Given the description of an element on the screen output the (x, y) to click on. 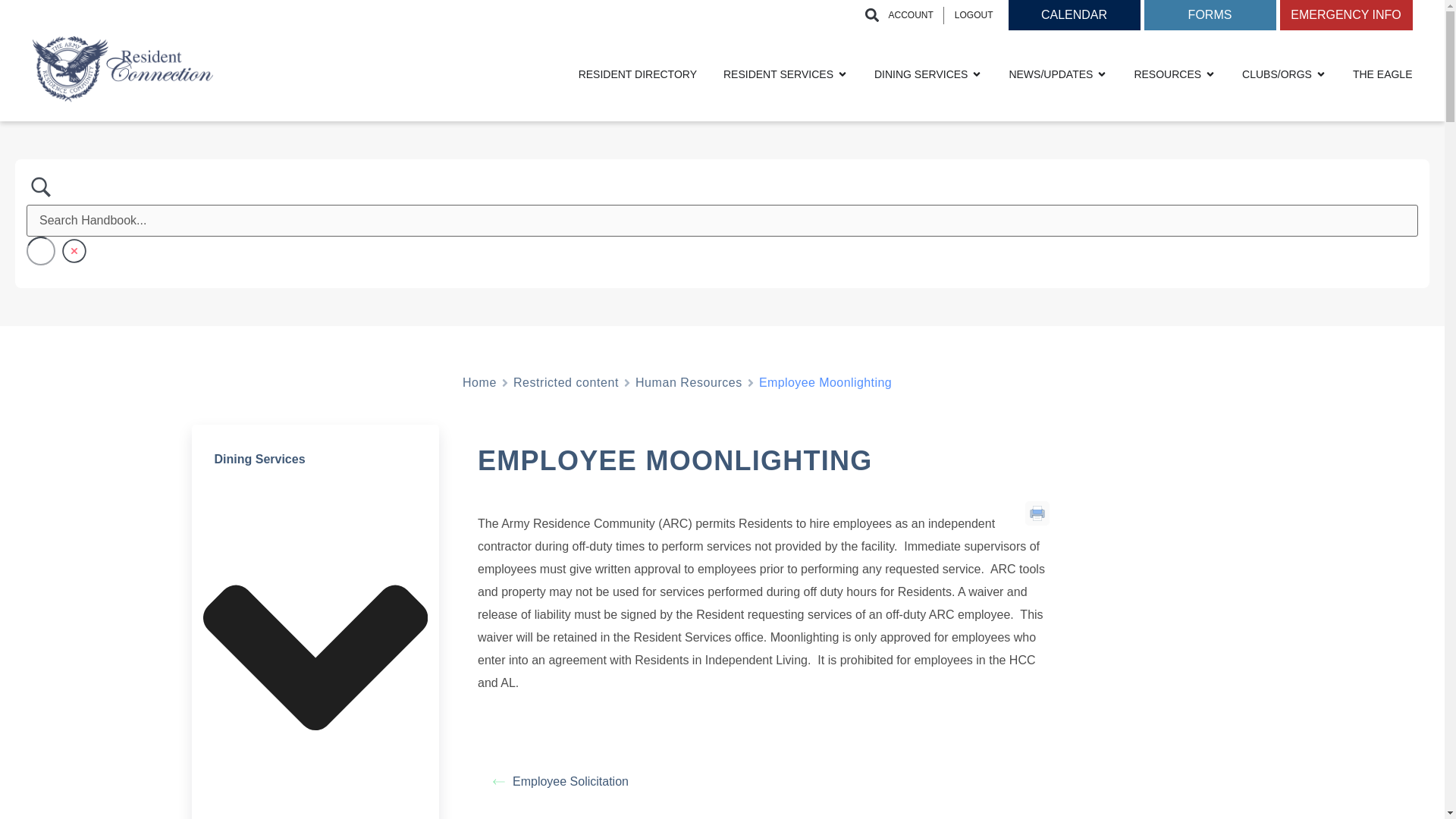
Restricted content (565, 382)
RESIDENT DIRECTORY (637, 74)
Human Resources (688, 382)
CALENDAR (1074, 15)
ACCOUNT (910, 14)
FORMS (1208, 15)
Home (479, 382)
LOGOUT (973, 14)
THE EAGLE (1382, 74)
EMERGENCY INFO (1345, 15)
